Given the description of an element on the screen output the (x, y) to click on. 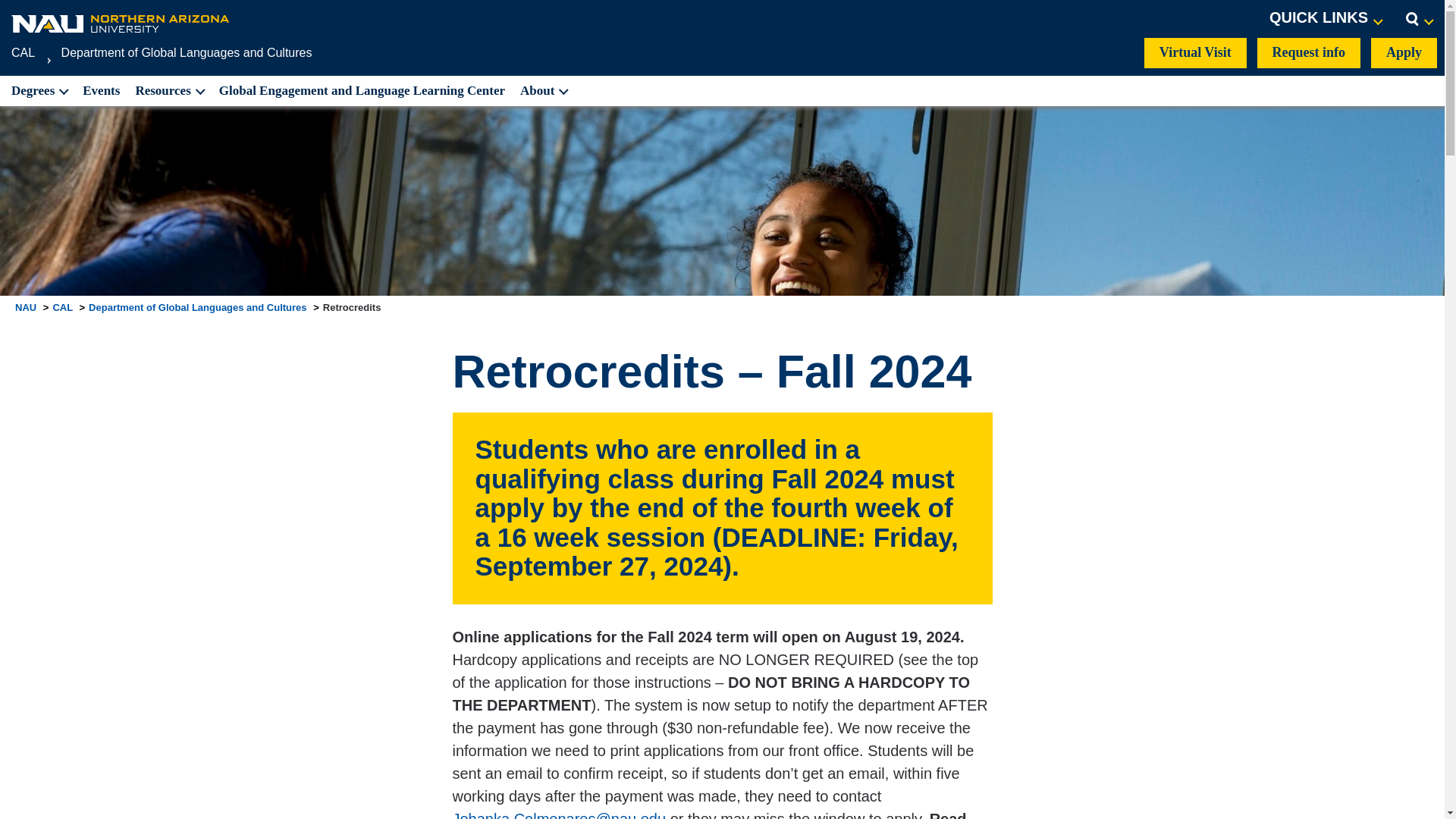
Apply (1404, 52)
CAL (23, 52)
NAU Home (121, 22)
Request info (1309, 52)
Degrees (37, 91)
Department of Global Languages and Cultures (186, 52)
Virtual Visit (1195, 52)
QUICK LINKS (1325, 18)
